Given the description of an element on the screen output the (x, y) to click on. 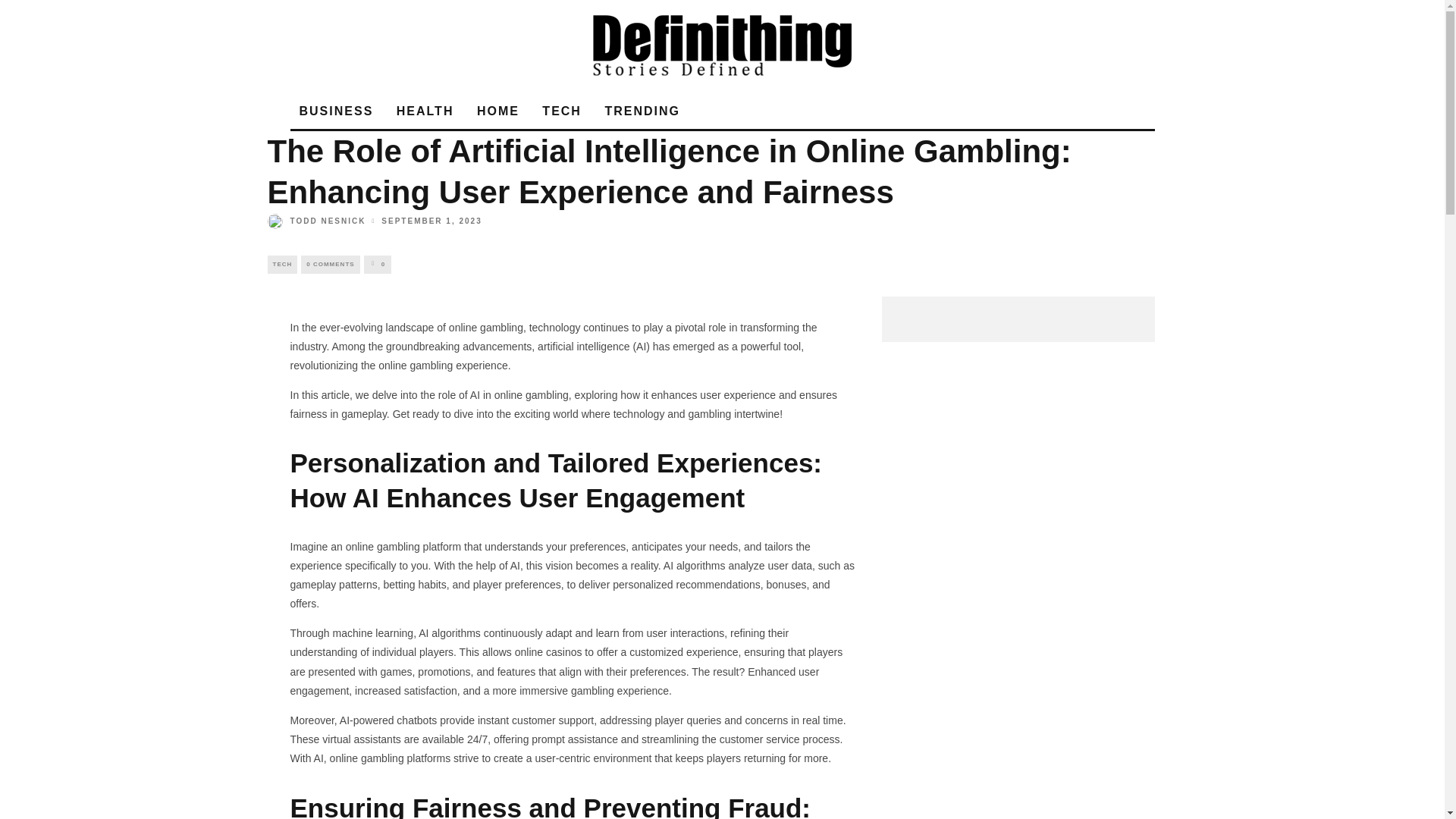
TRENDING (641, 111)
TECH (281, 264)
TECH (561, 111)
TODD NESNICK (315, 221)
0 COMMENTS (330, 264)
BUSINESS (335, 111)
HEALTH (425, 111)
HOME (497, 111)
View all posts in Tech (281, 264)
